Given the description of an element on the screen output the (x, y) to click on. 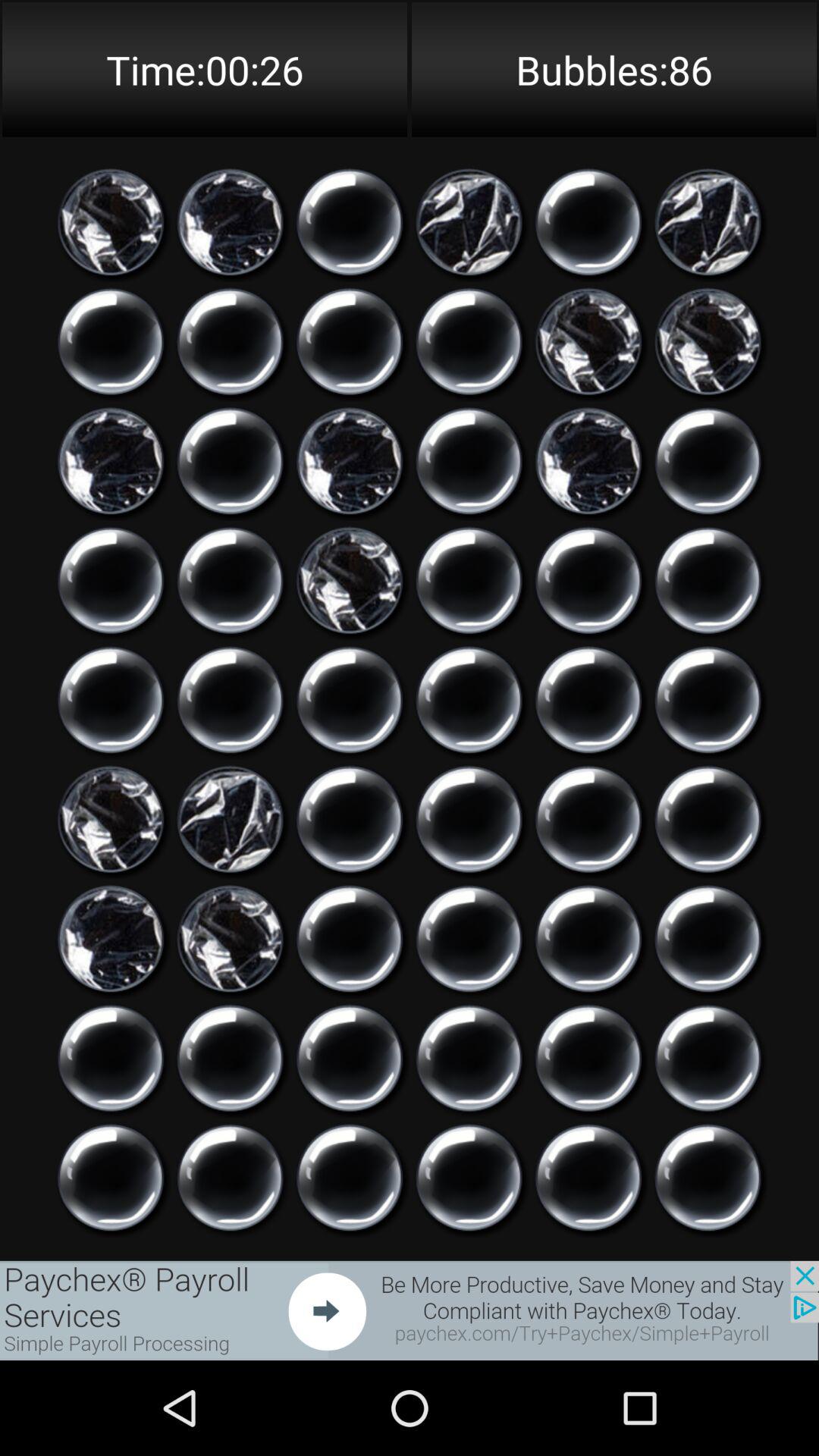
pop bubble (349, 938)
